Given the description of an element on the screen output the (x, y) to click on. 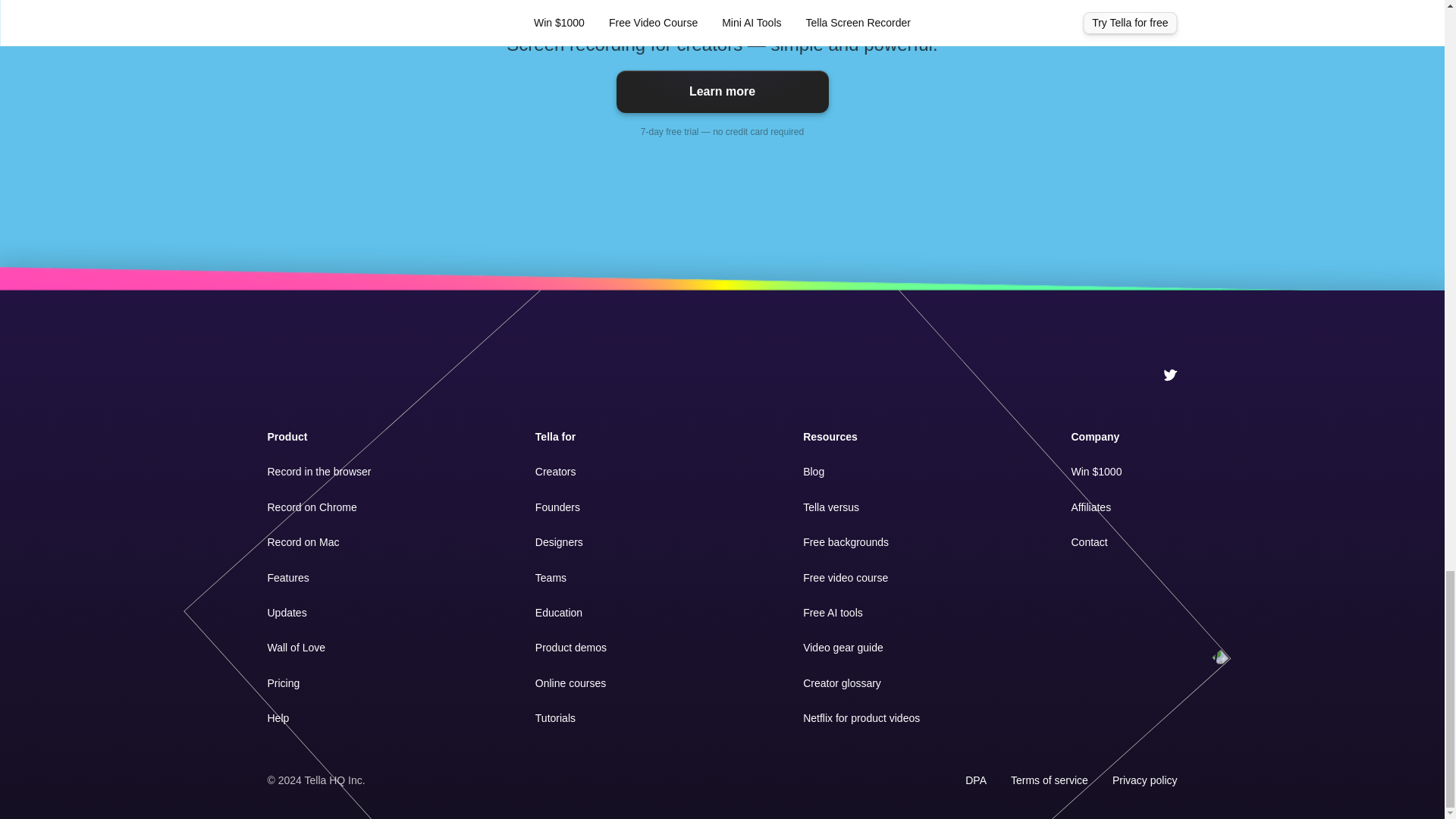
Teams (550, 577)
Product demos (571, 647)
Learn more (721, 91)
Product (286, 436)
Creators (555, 471)
Updates (285, 612)
Pricing (282, 683)
Wall of Love (295, 647)
Tella for (555, 436)
Features (287, 577)
